Given the description of an element on the screen output the (x, y) to click on. 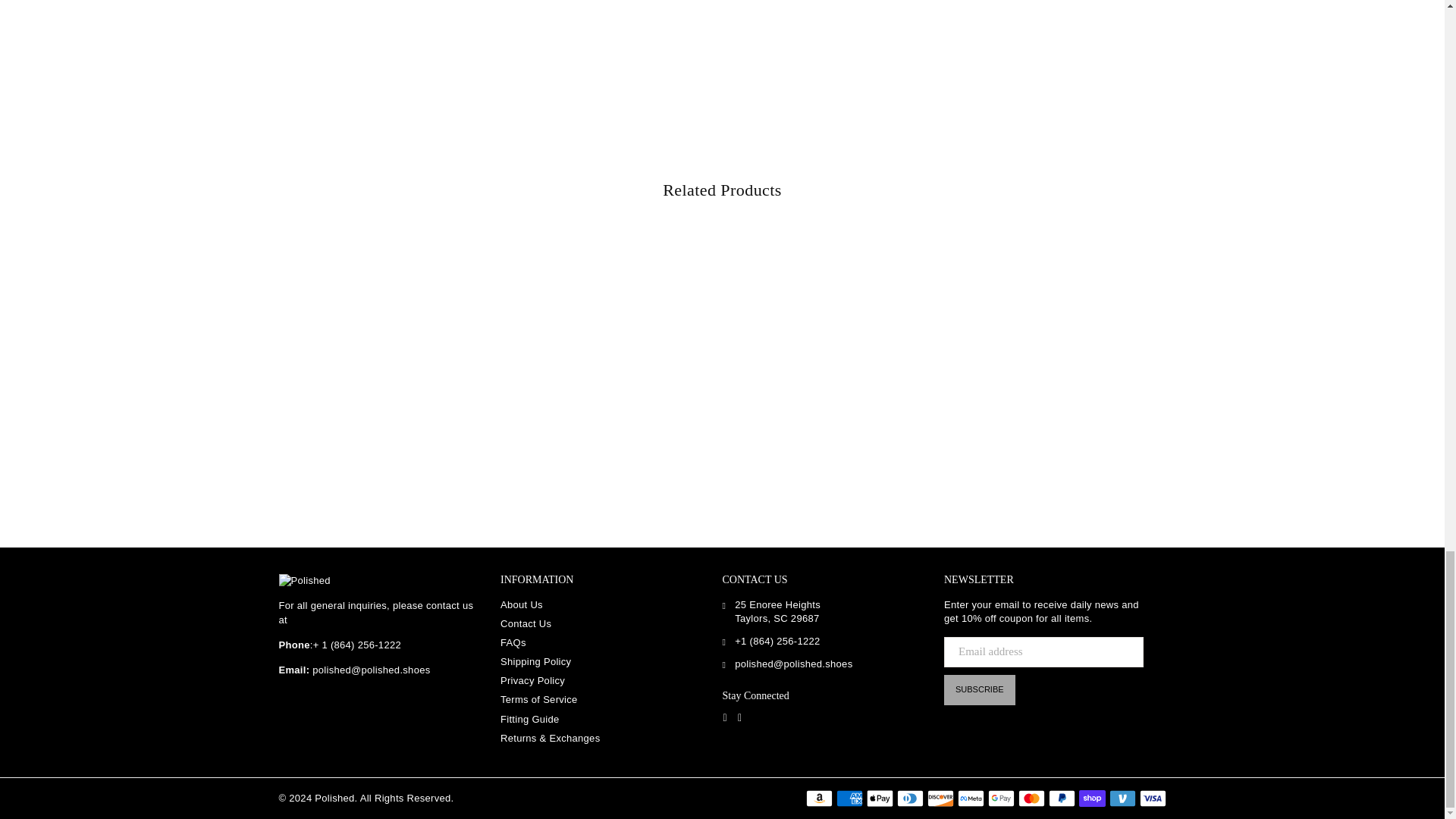
Shop Pay (1091, 798)
Visa (1152, 798)
American Express (848, 798)
Google Pay (1000, 798)
Amazon (818, 798)
Apple Pay (879, 798)
Venmo (1121, 798)
Discover (939, 798)
Meta Pay (970, 798)
Mastercard (1030, 798)
PayPal (1061, 798)
Diners Club (909, 798)
